Given the description of an element on the screen output the (x, y) to click on. 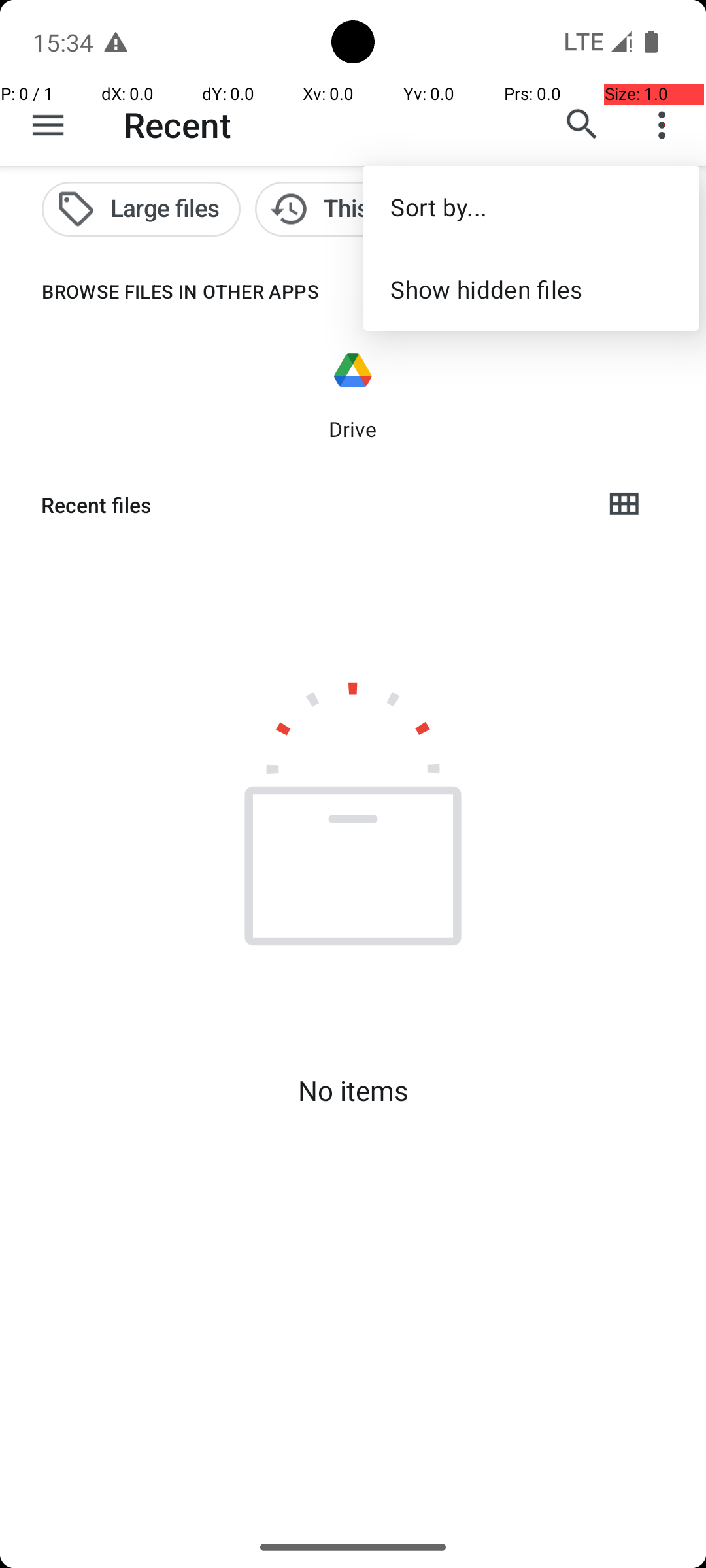
Sort by... Element type: android.widget.TextView (531, 206)
Show hidden files Element type: android.widget.TextView (531, 288)
